Given the description of an element on the screen output the (x, y) to click on. 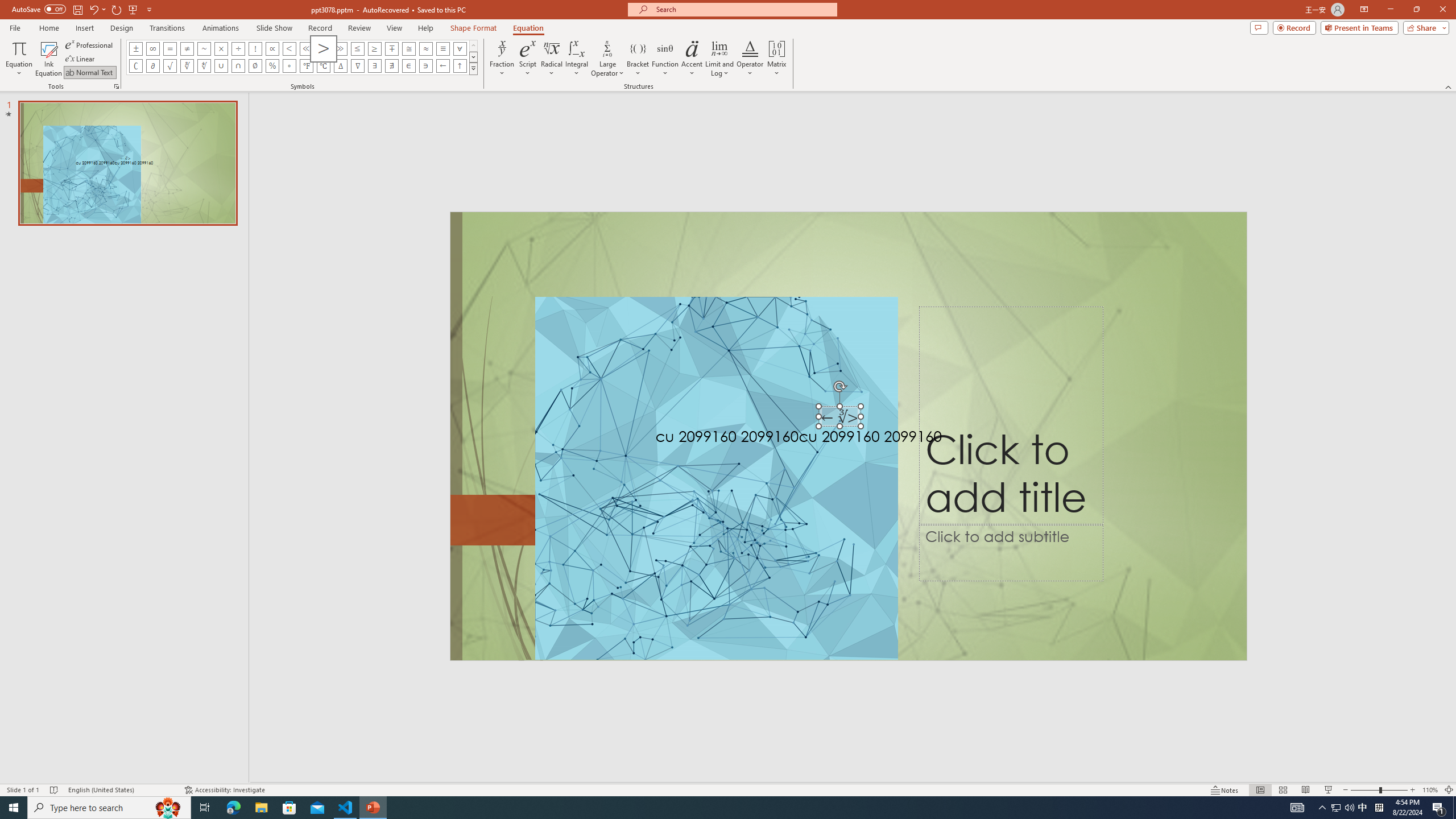
Equation Symbol Much Greater Than (340, 48)
Equation Symbol For All (459, 48)
Normal Text (90, 72)
Equation Symbol Intersection (238, 65)
Linear (81, 58)
Equation Symbol Plus Minus (136, 48)
Equation Symbol Greater Than (323, 48)
Equation Symbol Degrees (289, 65)
